Given the description of an element on the screen output the (x, y) to click on. 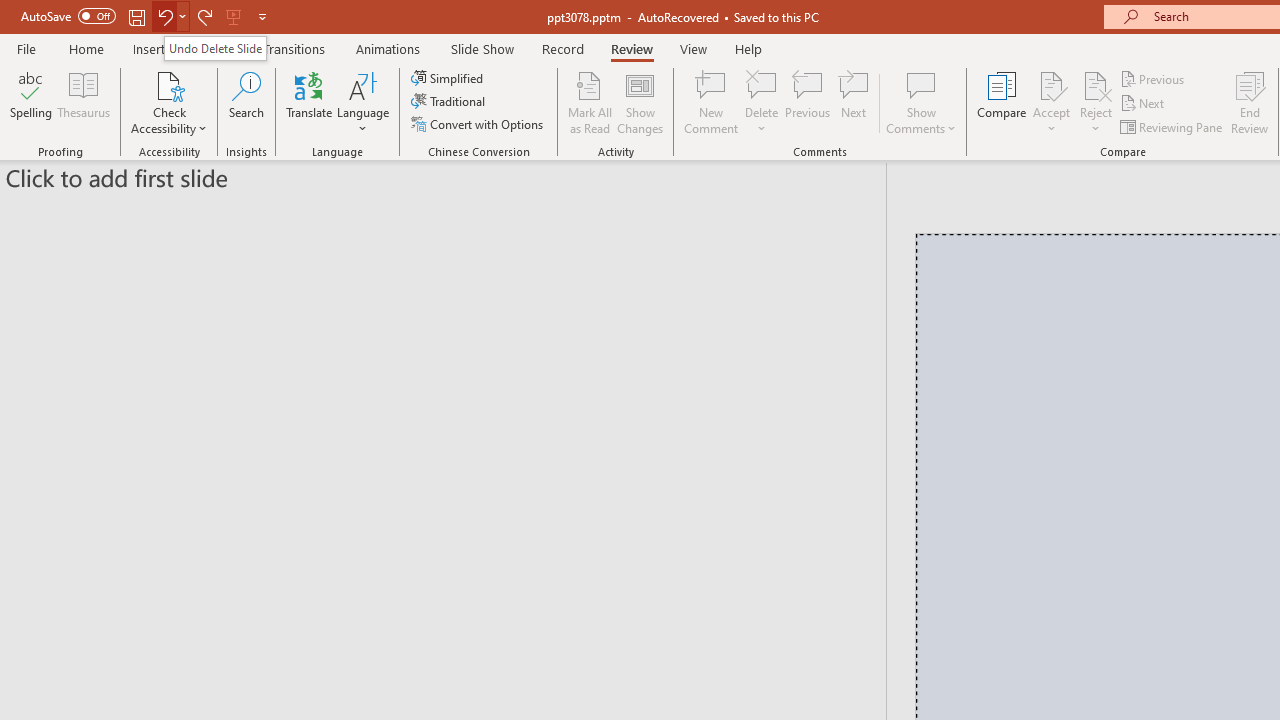
Reject Change (1096, 84)
Thesaurus... (83, 102)
Simplified (449, 78)
Traditional (449, 101)
